Given the description of an element on the screen output the (x, y) to click on. 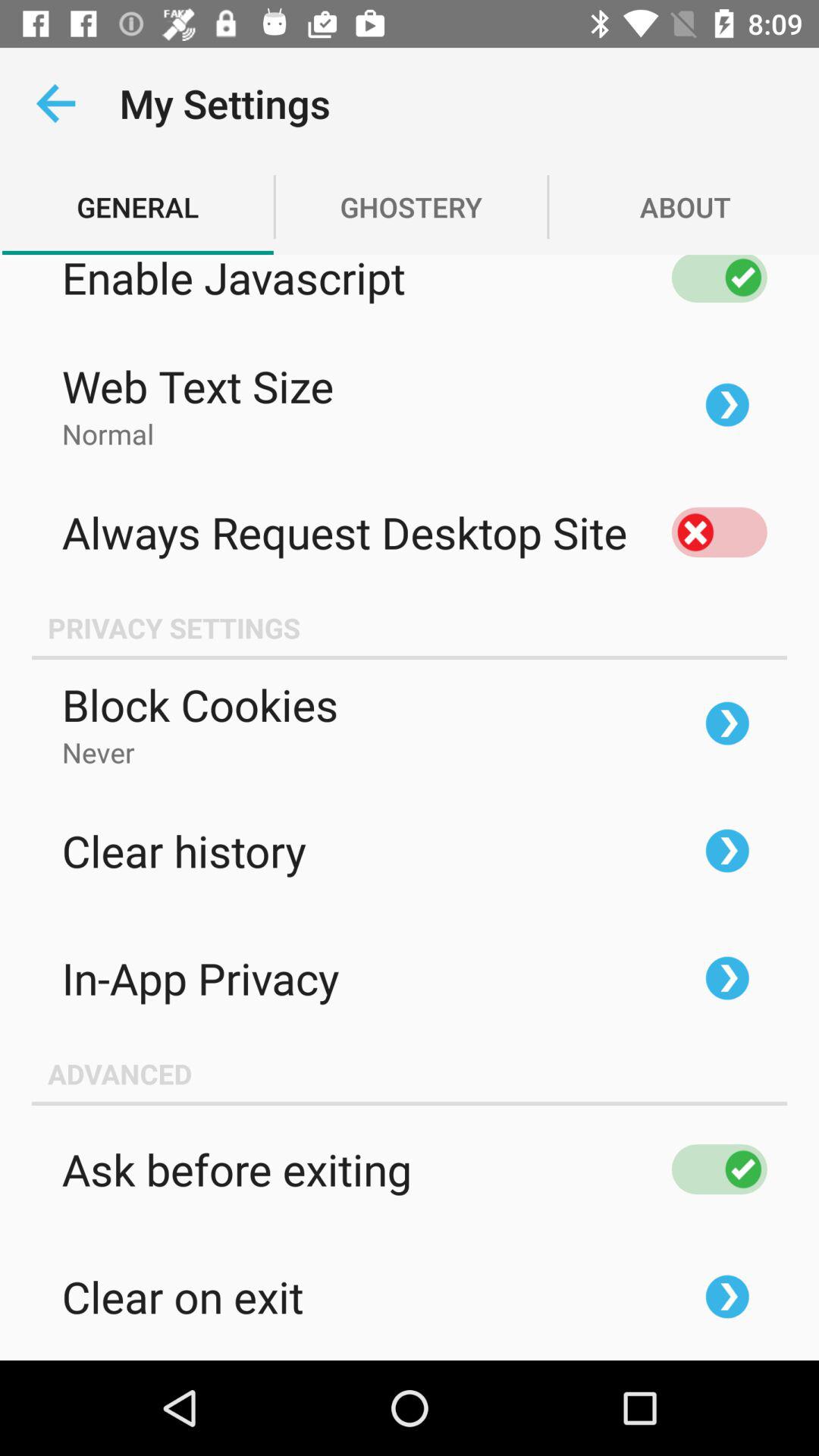
active the function (719, 1169)
